Given the description of an element on the screen output the (x, y) to click on. 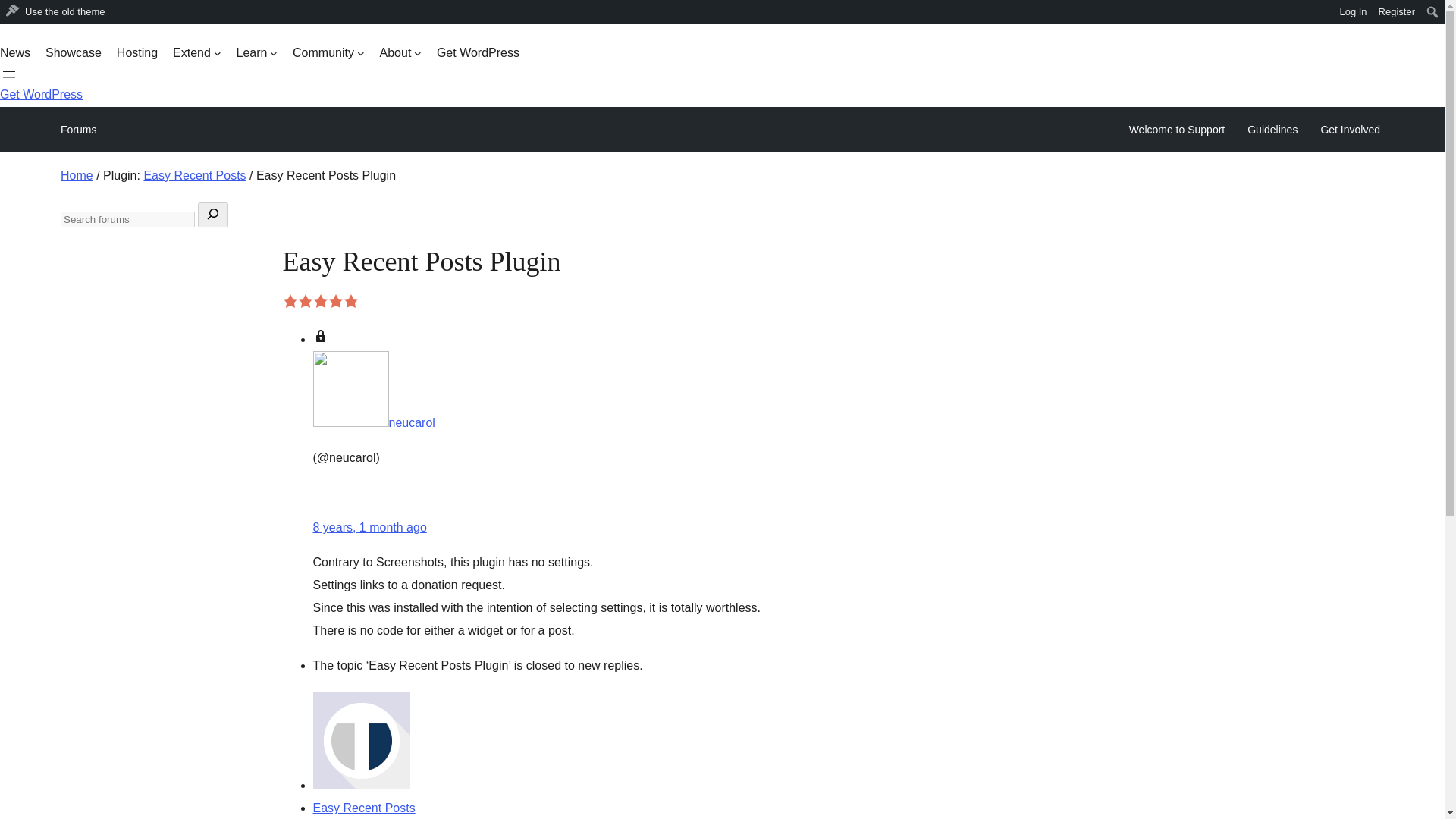
July 14, 2016 at 1:26 pm (369, 526)
Log In (1353, 12)
WordPress.org (10, 10)
Get WordPress (41, 93)
Use the old theme (56, 12)
Get WordPress (477, 52)
WordPress.org (10, 16)
Hosting (136, 52)
View neucarol's profile (373, 422)
News (15, 52)
